Given the description of an element on the screen output the (x, y) to click on. 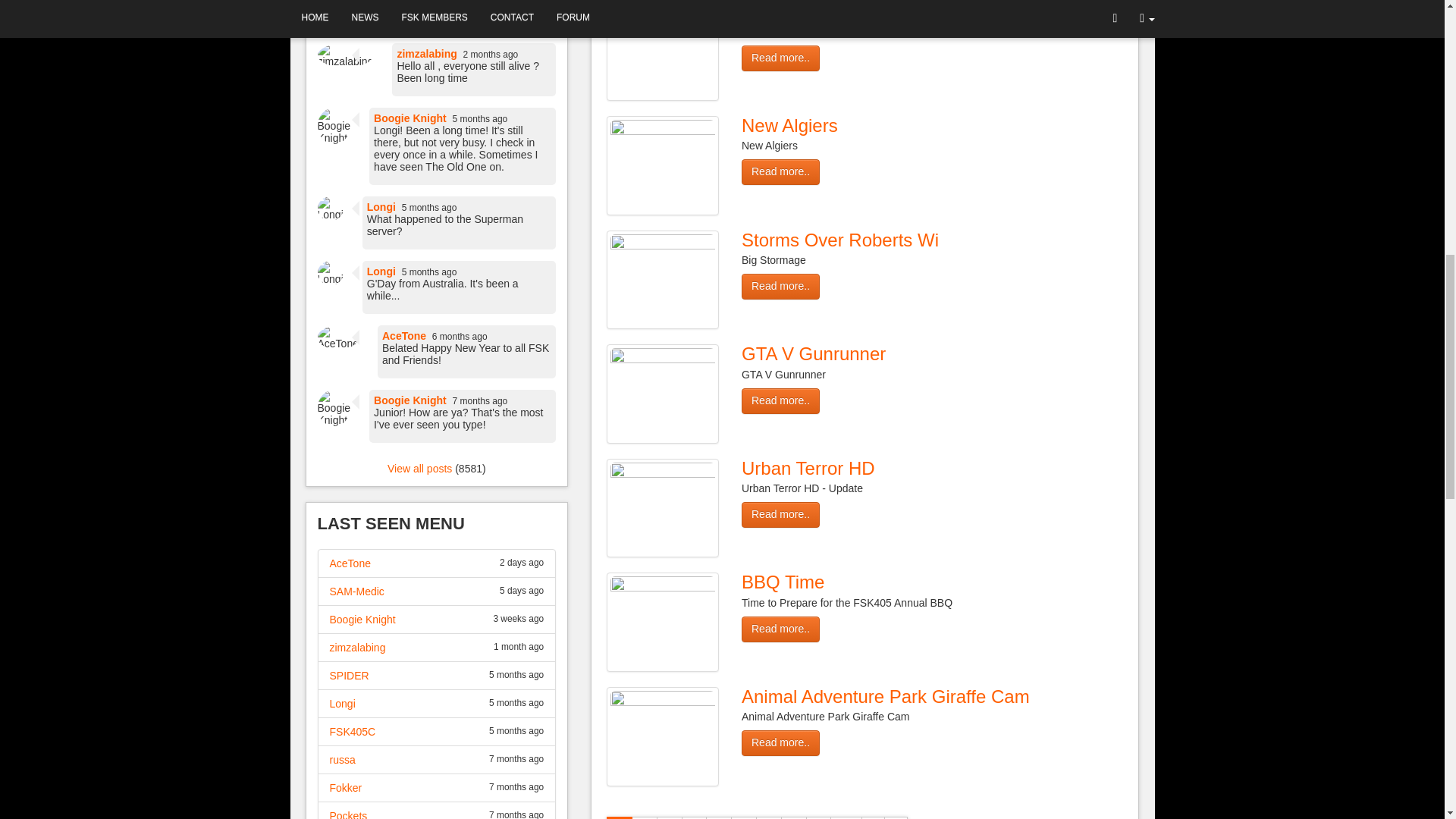
Go to page 2 (644, 817)
Longi (342, 703)
Fokker (345, 787)
Boogie Knight (410, 399)
Boogie Knight (361, 619)
AceTone (403, 336)
zimzalabing (426, 53)
Go to page 9 (818, 817)
Longi (381, 206)
Go to page 5 (719, 817)
Go to page 4 (694, 817)
Boogie Knight (410, 118)
Go to page 6 (743, 817)
SAM-Medic (356, 591)
Longi (381, 271)
